Given the description of an element on the screen output the (x, y) to click on. 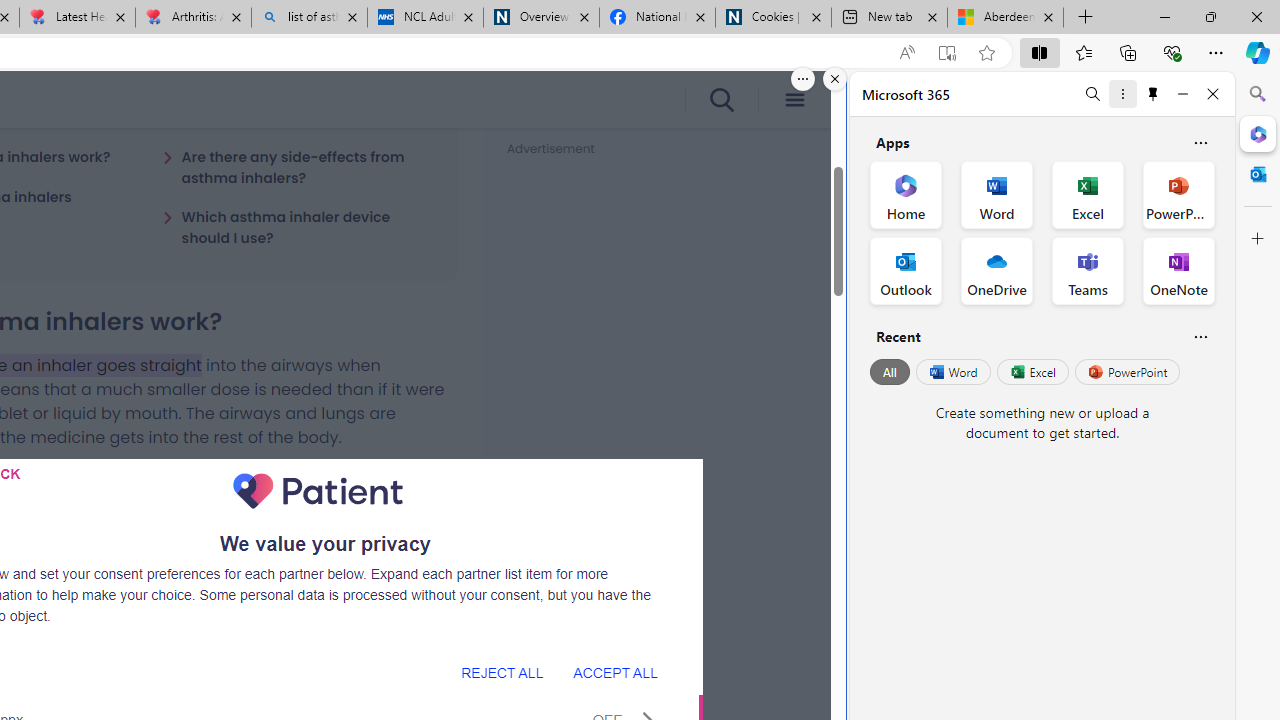
Unpin side pane (1153, 93)
PowerPoint Office App (1178, 194)
Home Office App (906, 194)
OneNote Office App (1178, 270)
Are there any side-effects from asthma inhalers? (298, 167)
More options. (803, 79)
Excel (1031, 372)
REJECT ALL (502, 672)
